Given the description of an element on the screen output the (x, y) to click on. 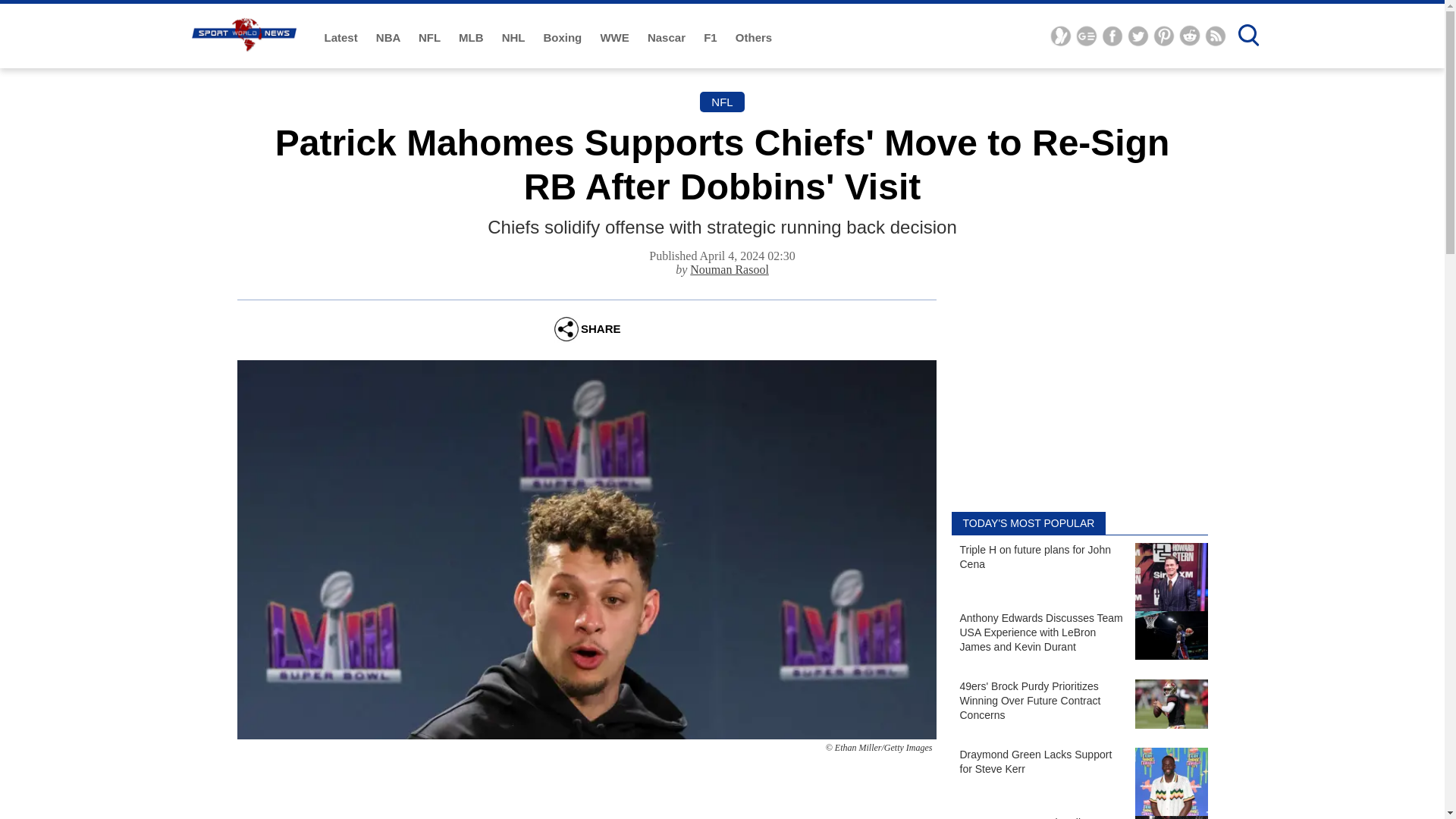
F1 (711, 37)
NFL (431, 37)
Latest (342, 37)
WWE (615, 37)
NHL (515, 37)
NBA (389, 37)
Boxing (564, 37)
MLB (472, 37)
Nascar (667, 37)
Others (753, 37)
